Given the description of an element on the screen output the (x, y) to click on. 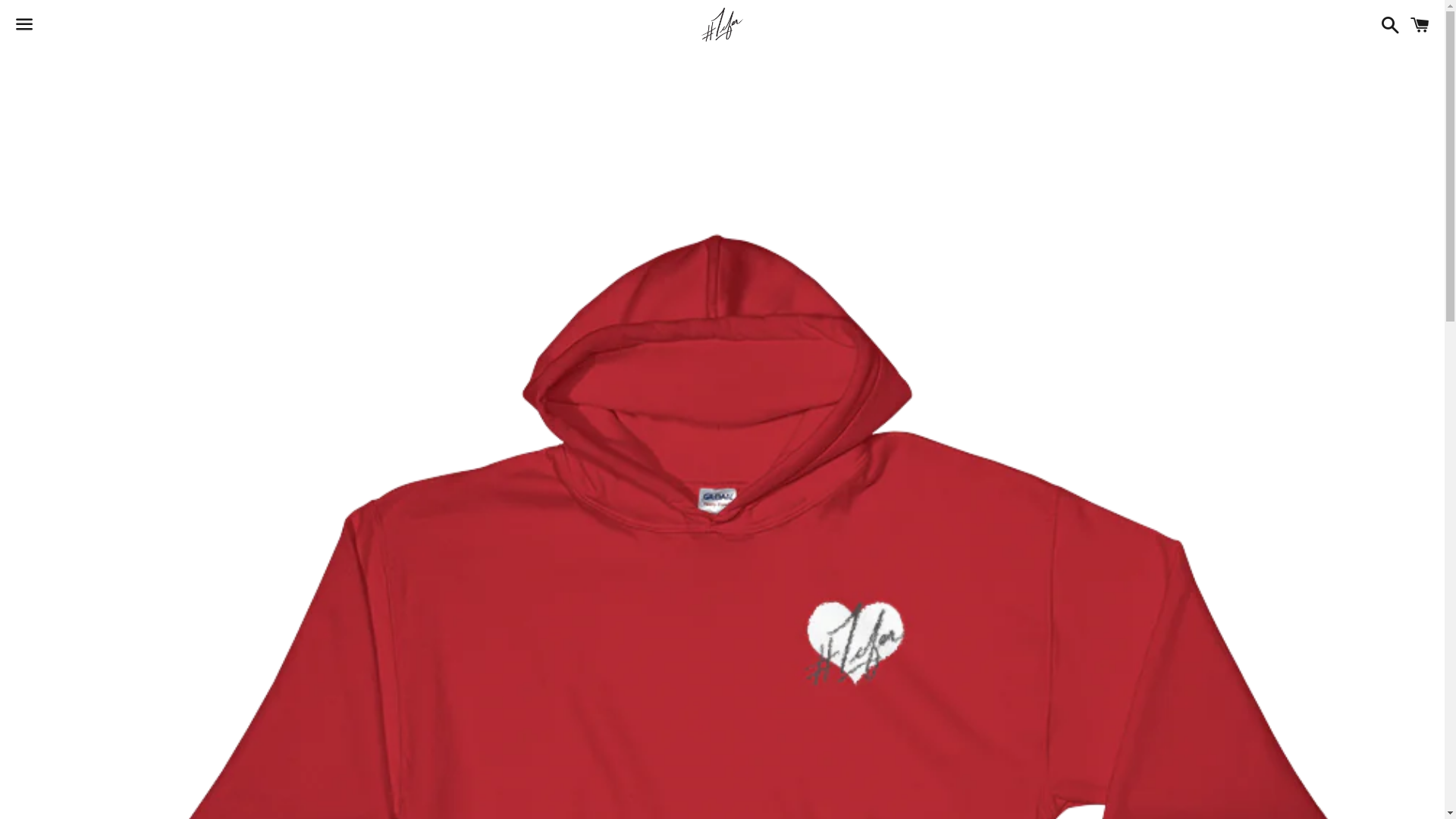
Menu Element type: text (24, 24)
Search Element type: text (1386, 24)
Cart Element type: text (1419, 24)
